Given the description of an element on the screen output the (x, y) to click on. 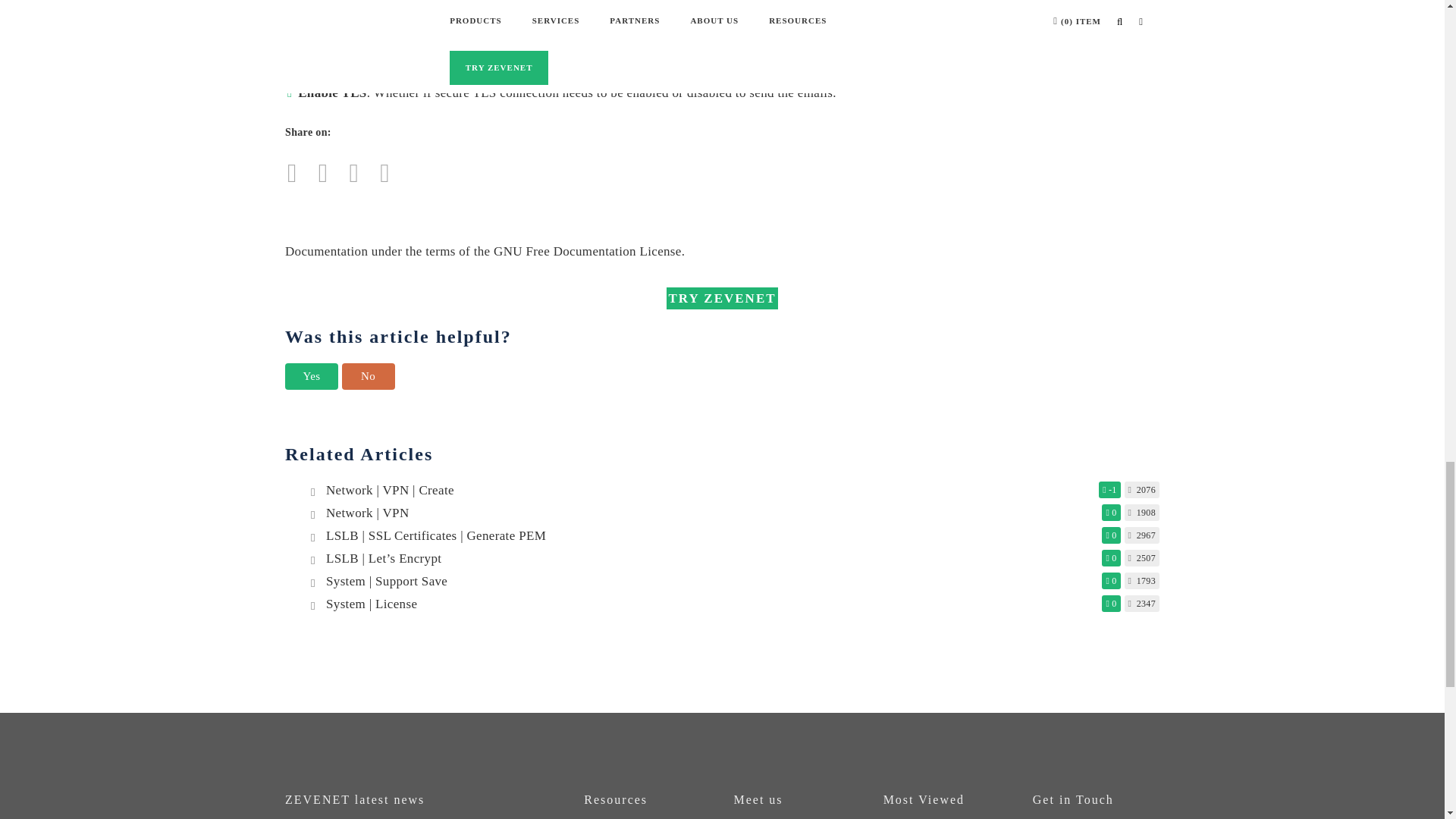
Share on Twitter (292, 177)
Share on Linkedin (384, 177)
Share on Facebook (322, 177)
